Given the description of an element on the screen output the (x, y) to click on. 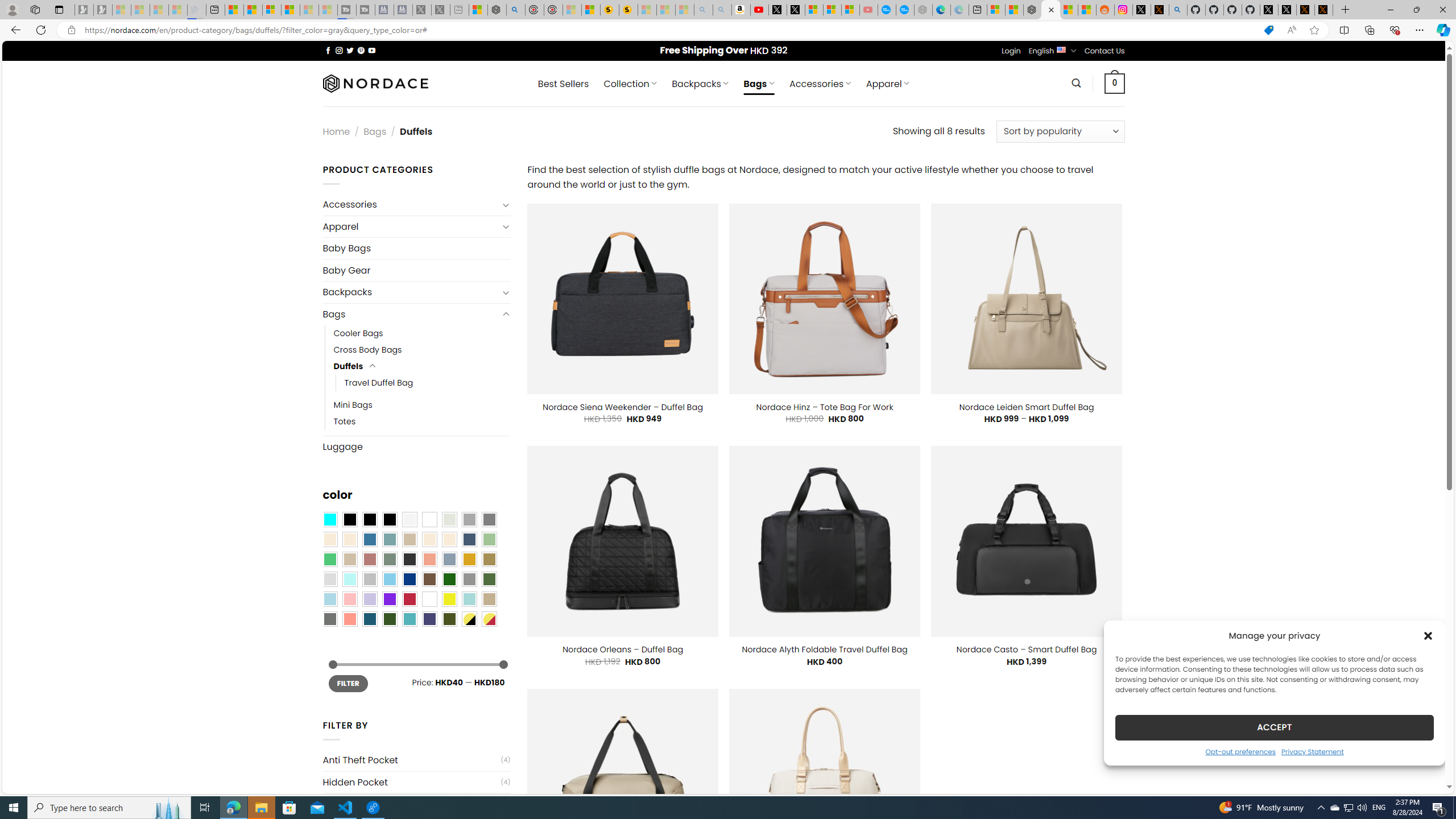
Dusty Blue (449, 559)
Baby Bags (416, 248)
Follow on Pinterest (360, 49)
Charcoal (408, 559)
Amazon Echo Dot PNG - Search Images - Sleeping (721, 9)
Nordace Alyth Foldable Travel Duffel Bag (824, 649)
Newsletter Sign Up - Sleeping (102, 9)
Day 1: Arriving in Yemen (surreal to be here) - YouTube (759, 9)
